Given the description of an element on the screen output the (x, y) to click on. 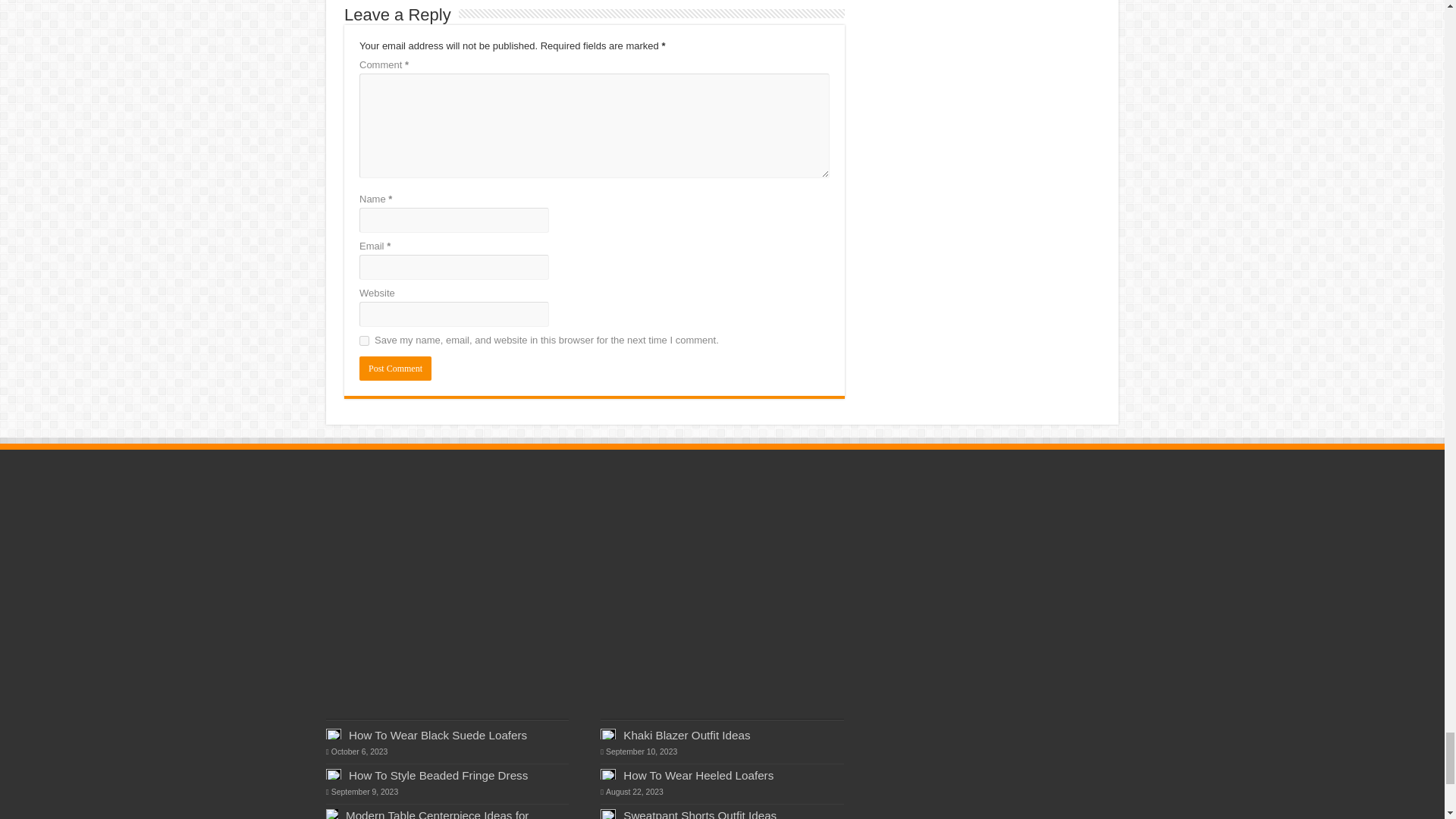
Post Comment (394, 368)
Post Comment (394, 368)
yes (364, 340)
How To Style Beaded Fringe Dress (438, 775)
How To Wear Black Suede Loafers (438, 735)
